Given the description of an element on the screen output the (x, y) to click on. 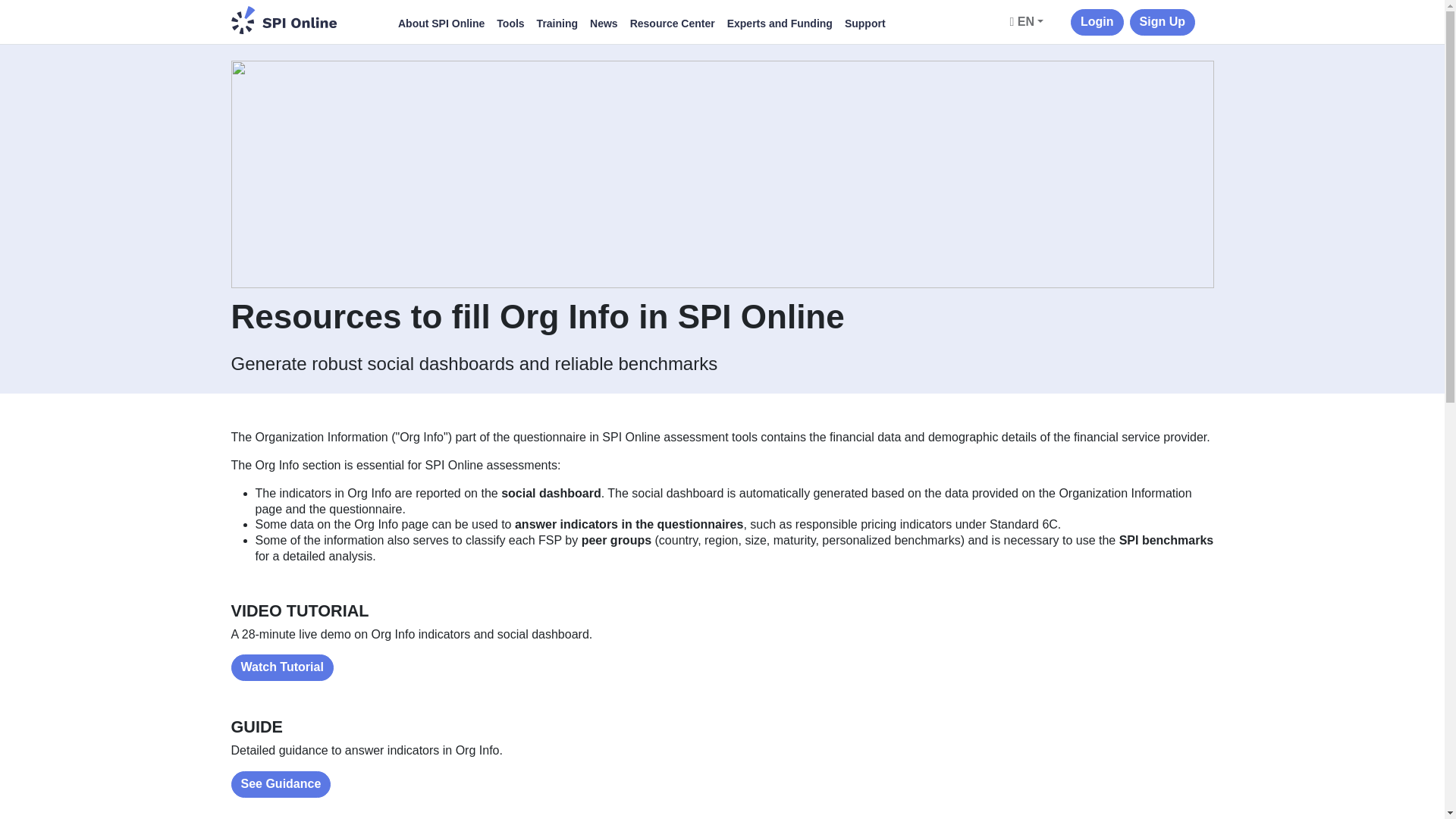
About SPI Online (440, 23)
Resource Center (672, 23)
News (603, 23)
Experts and Funding (779, 23)
Login (1097, 22)
Resource Center (672, 23)
Support (864, 23)
Login (1097, 22)
Tools (509, 23)
Training (557, 23)
